Given the description of an element on the screen output the (x, y) to click on. 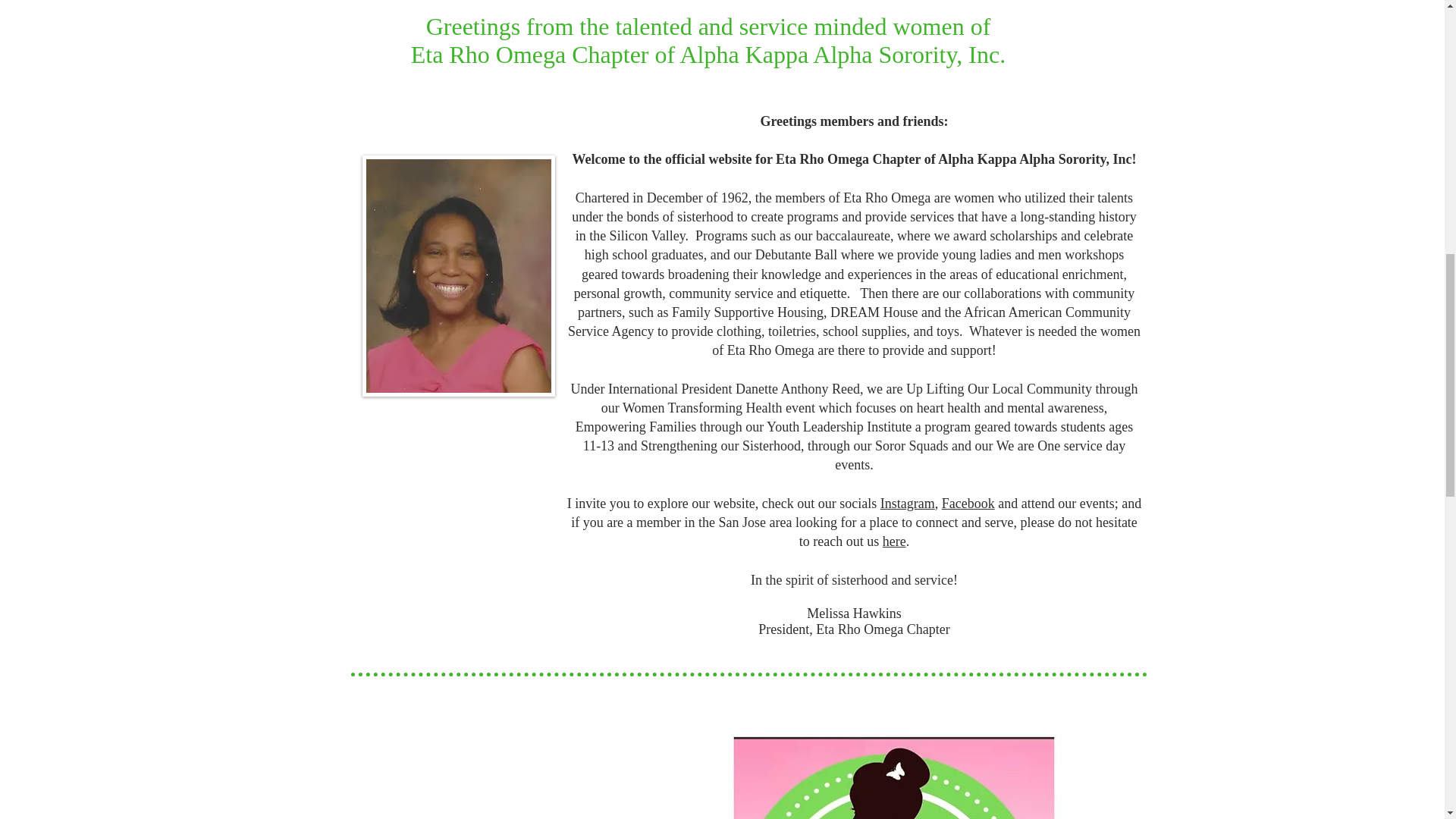
Facebook (968, 503)
Instagram (907, 503)
here (893, 540)
